Given the description of an element on the screen output the (x, y) to click on. 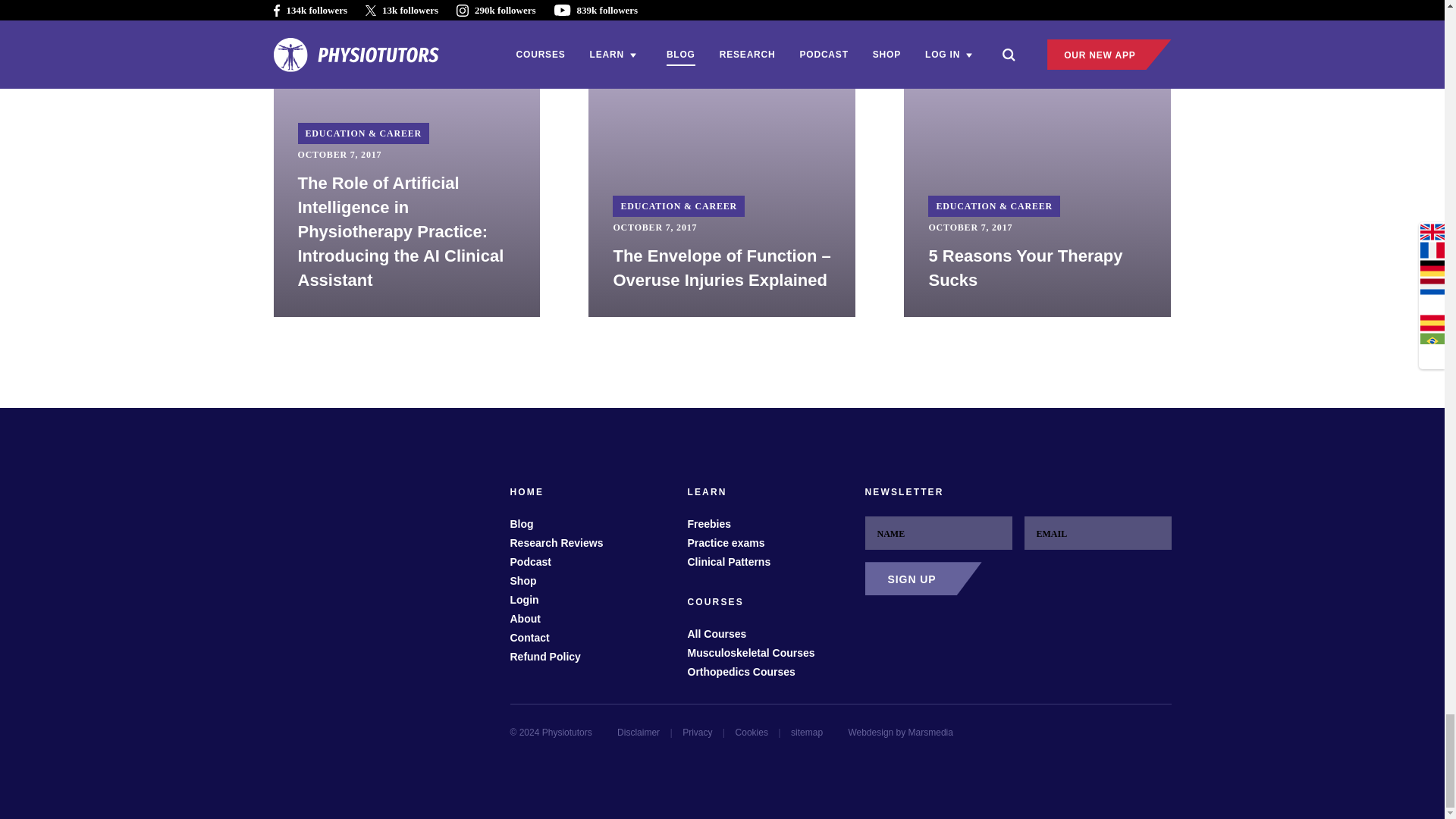
Sign Up (922, 578)
